Given the description of an element on the screen output the (x, y) to click on. 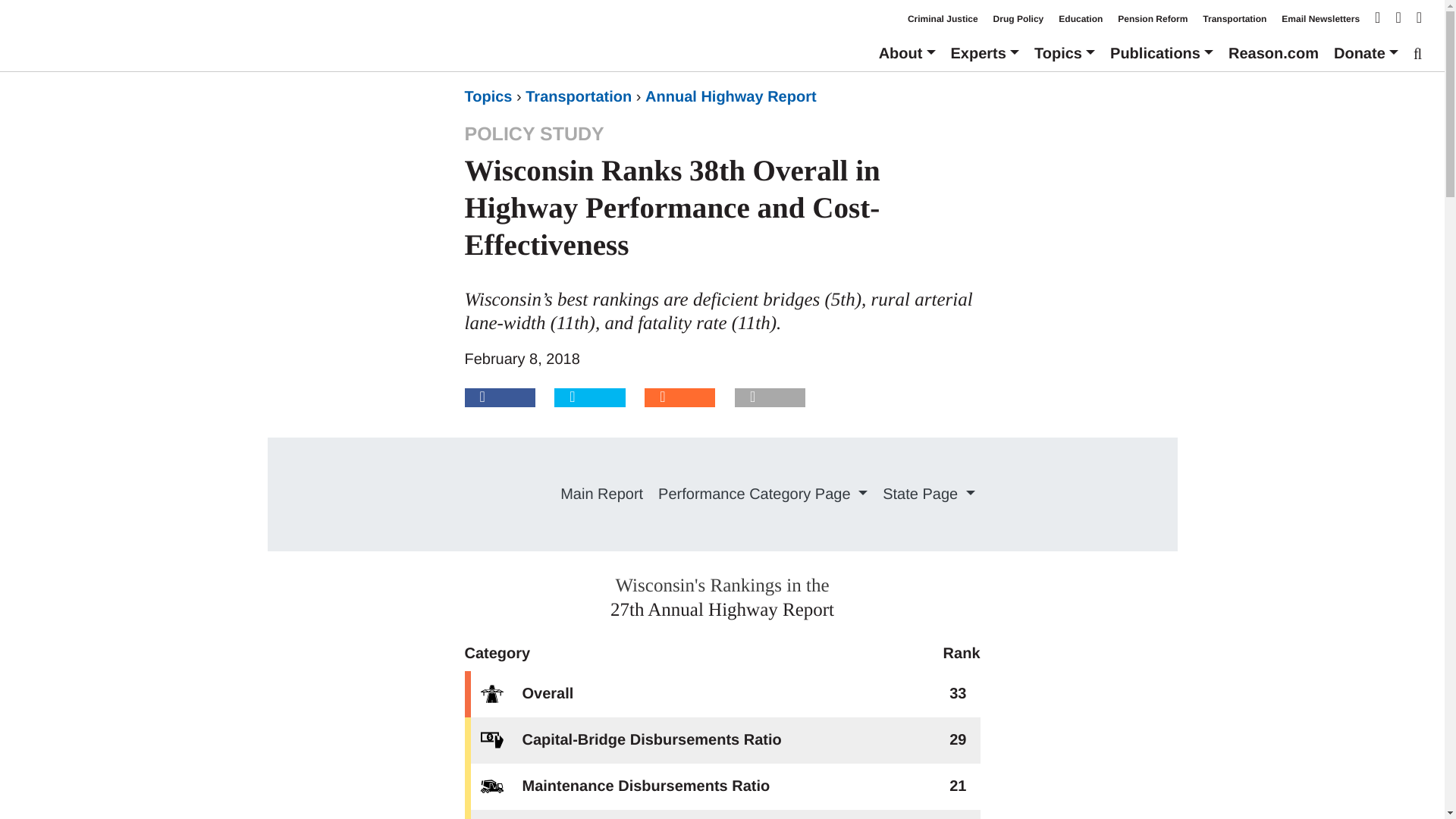
About (906, 53)
Topics (1064, 53)
Experts (984, 53)
Transportation (1234, 18)
Criminal Justice (942, 18)
Education (1080, 18)
Pension Reform (1153, 18)
Drug Policy (1017, 18)
Reason Magazine (1273, 53)
Email Newsletters (1320, 18)
